Given the description of an element on the screen output the (x, y) to click on. 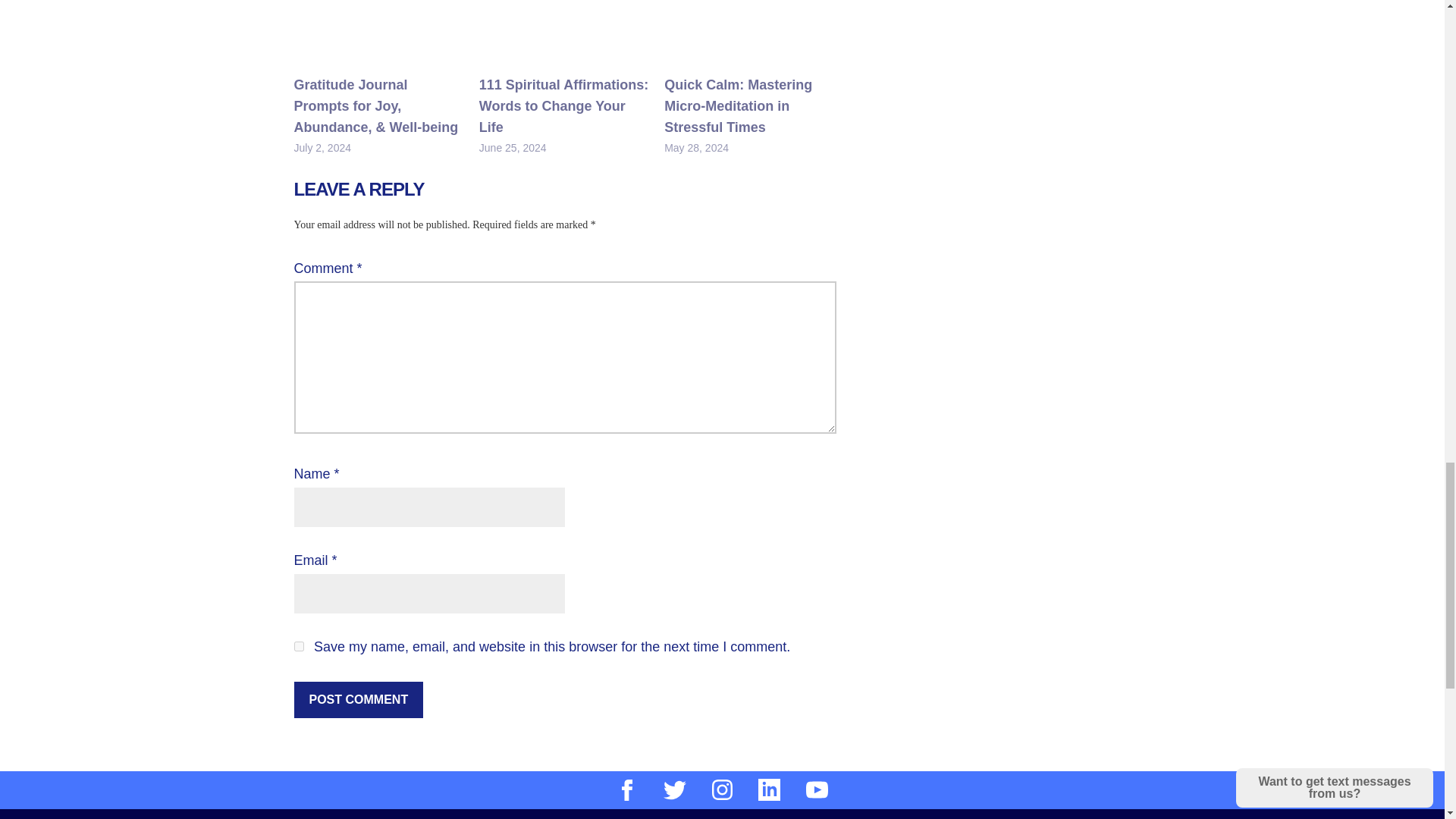
Find us on YouTube (817, 789)
Find us on Facebook (626, 789)
Find us on LinkedIn (769, 789)
Post Comment (358, 699)
Find us on Twitter (674, 789)
yes (299, 646)
Find us on Instagram (721, 789)
